Given the description of an element on the screen output the (x, y) to click on. 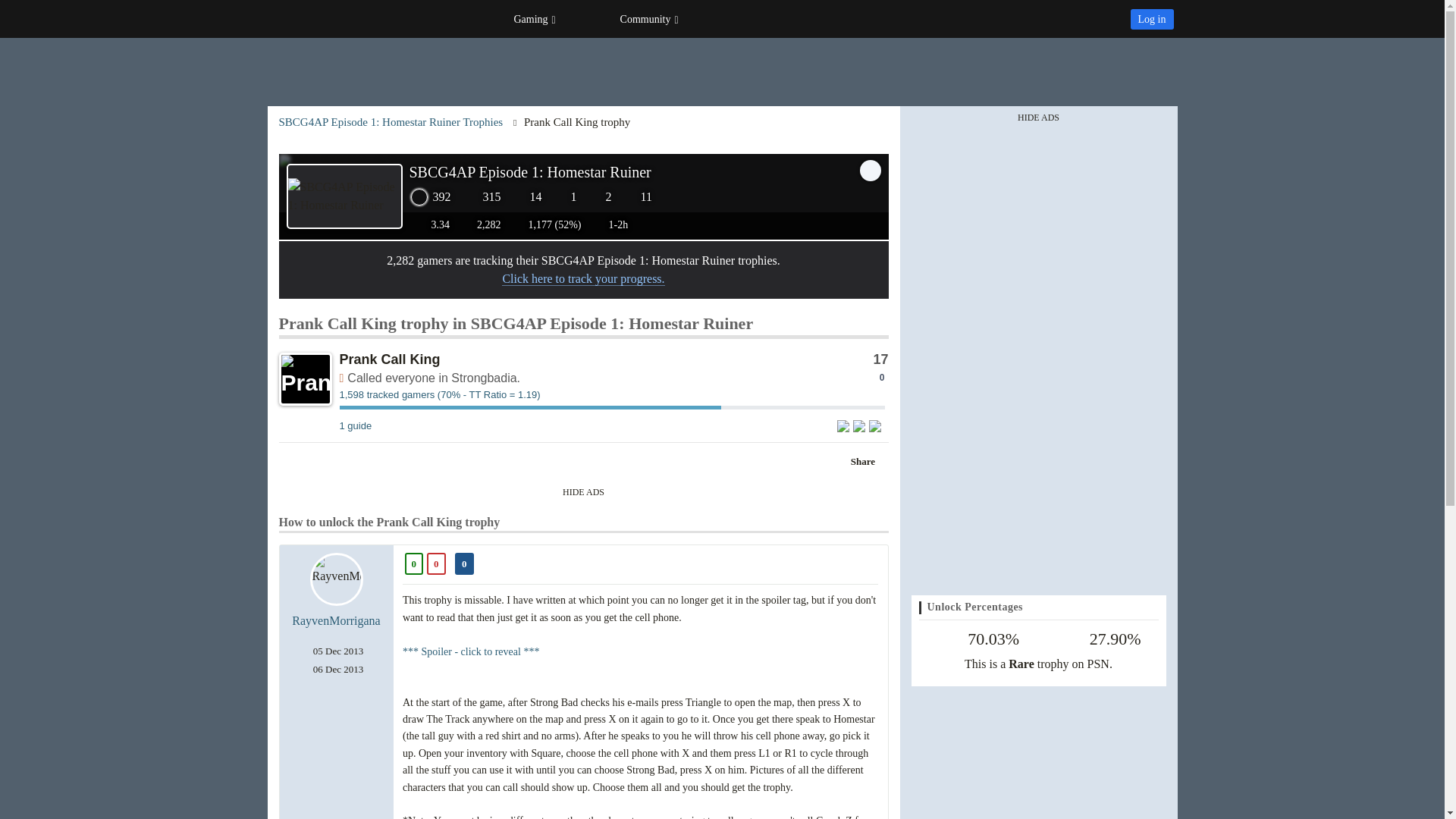
Game action (870, 169)
Maximum gold trophies (564, 197)
Maximum trophies (526, 197)
3.34 out of 5 from 43 votes (431, 224)
Gamers with trophy (612, 398)
Completed by 1,177 gamers (546, 224)
Maximum bronze trophies (637, 197)
Maximum TrueTrophy (430, 197)
